Given the description of an element on the screen output the (x, y) to click on. 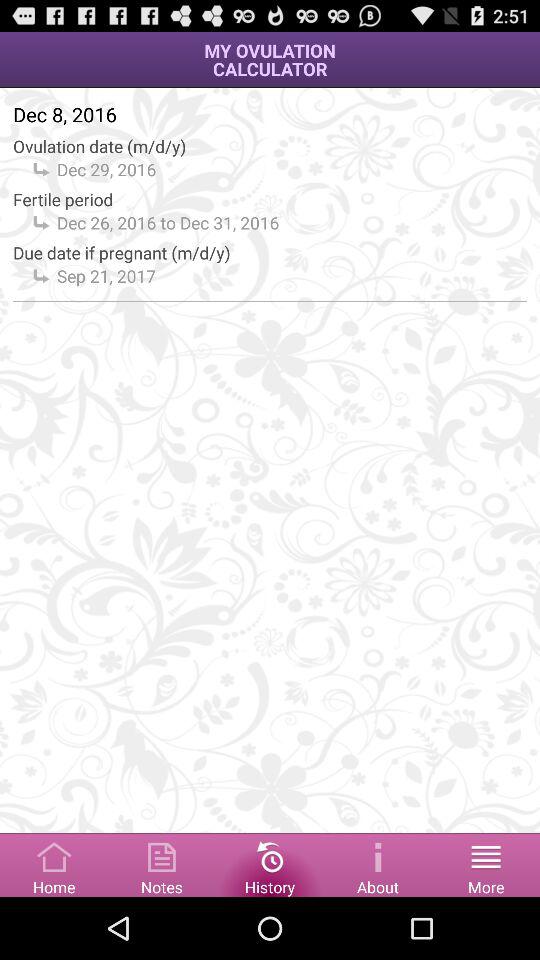
home button (54, 864)
